Given the description of an element on the screen output the (x, y) to click on. 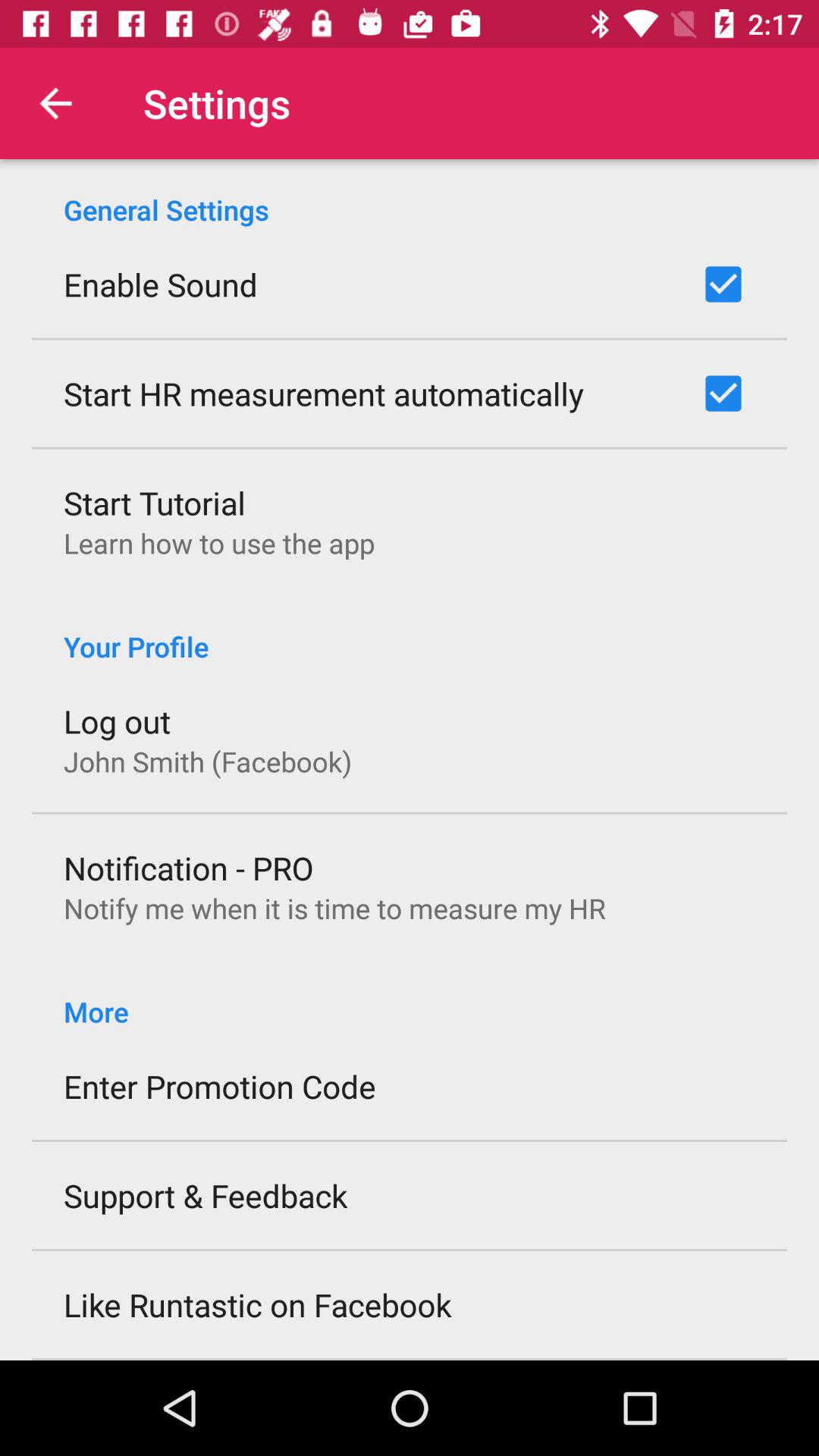
launch item to the left of the settings (55, 103)
